Given the description of an element on the screen output the (x, y) to click on. 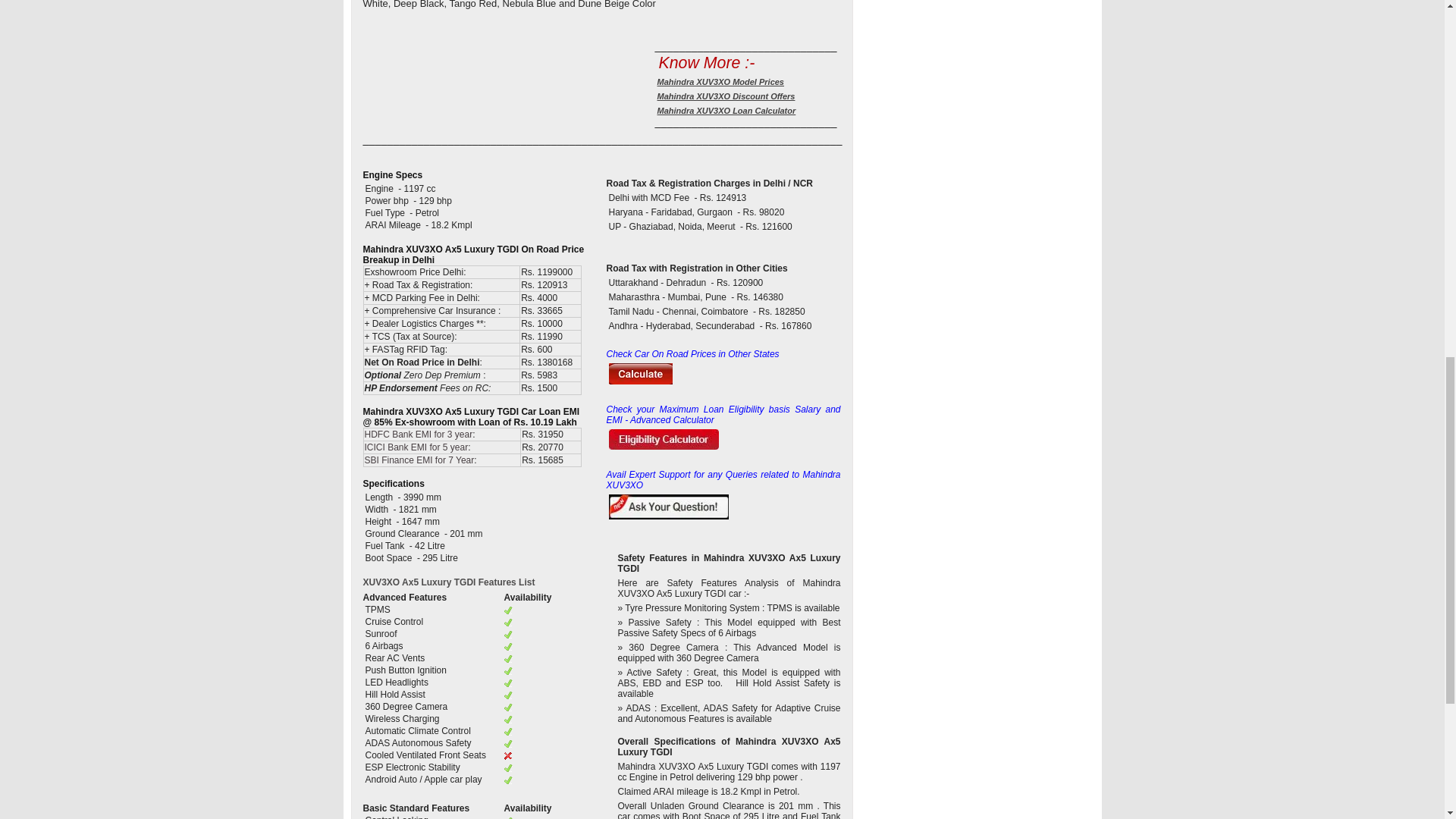
SBI Finance EMI for 7 Year (419, 460)
HDFC Bank EMI for 3 year (417, 434)
Length (379, 497)
Fuel Tank (385, 545)
Ground Clearance (403, 533)
ARAI Mileage (392, 225)
Mahindra XUV3XO Loan Calculator (726, 110)
Mahindra XUV3XO Discount Offers (726, 95)
Power bhp (386, 200)
Engine (379, 188)
